Given the description of an element on the screen output the (x, y) to click on. 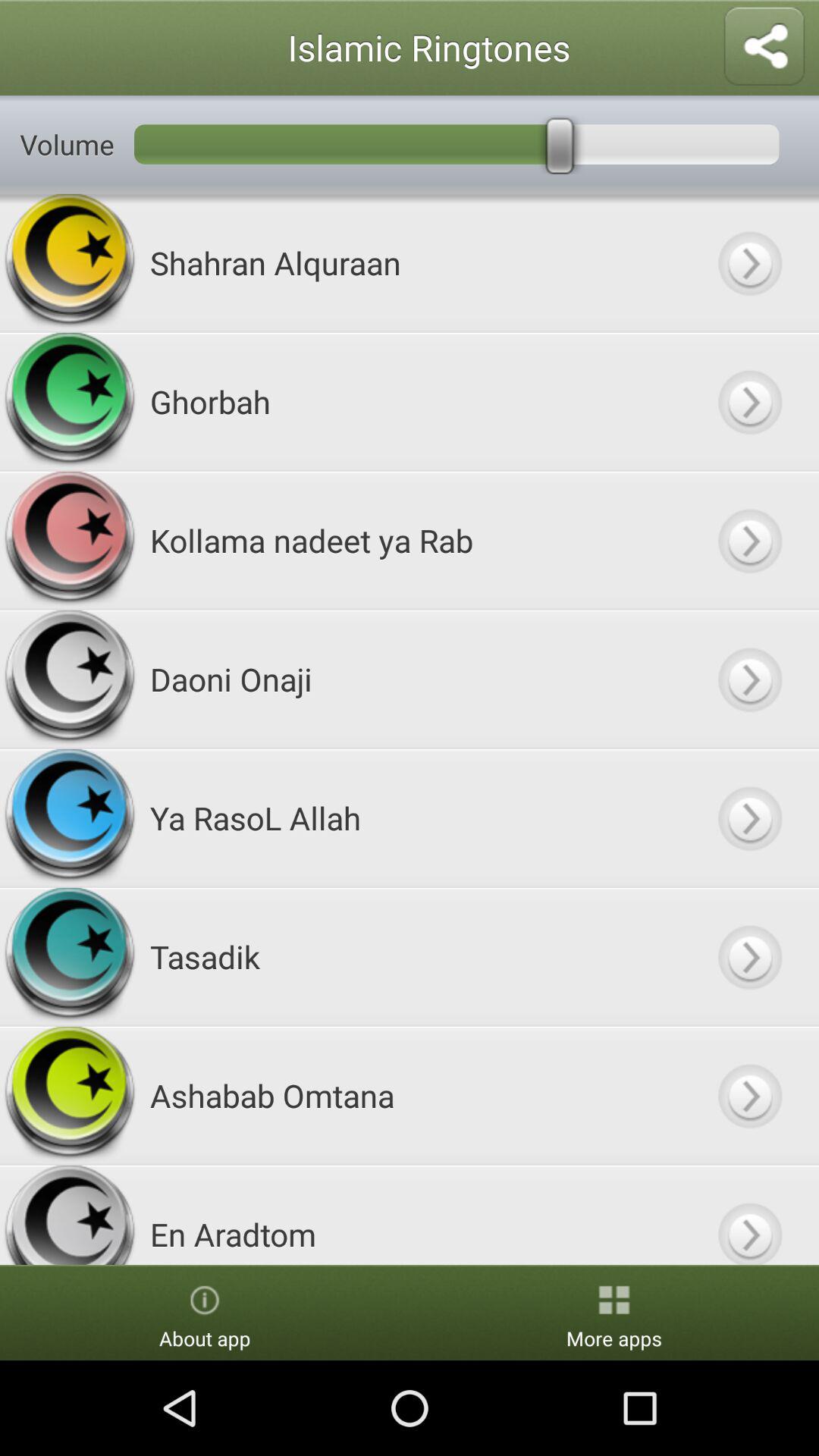
select option/ go to option (749, 401)
